Given the description of an element on the screen output the (x, y) to click on. 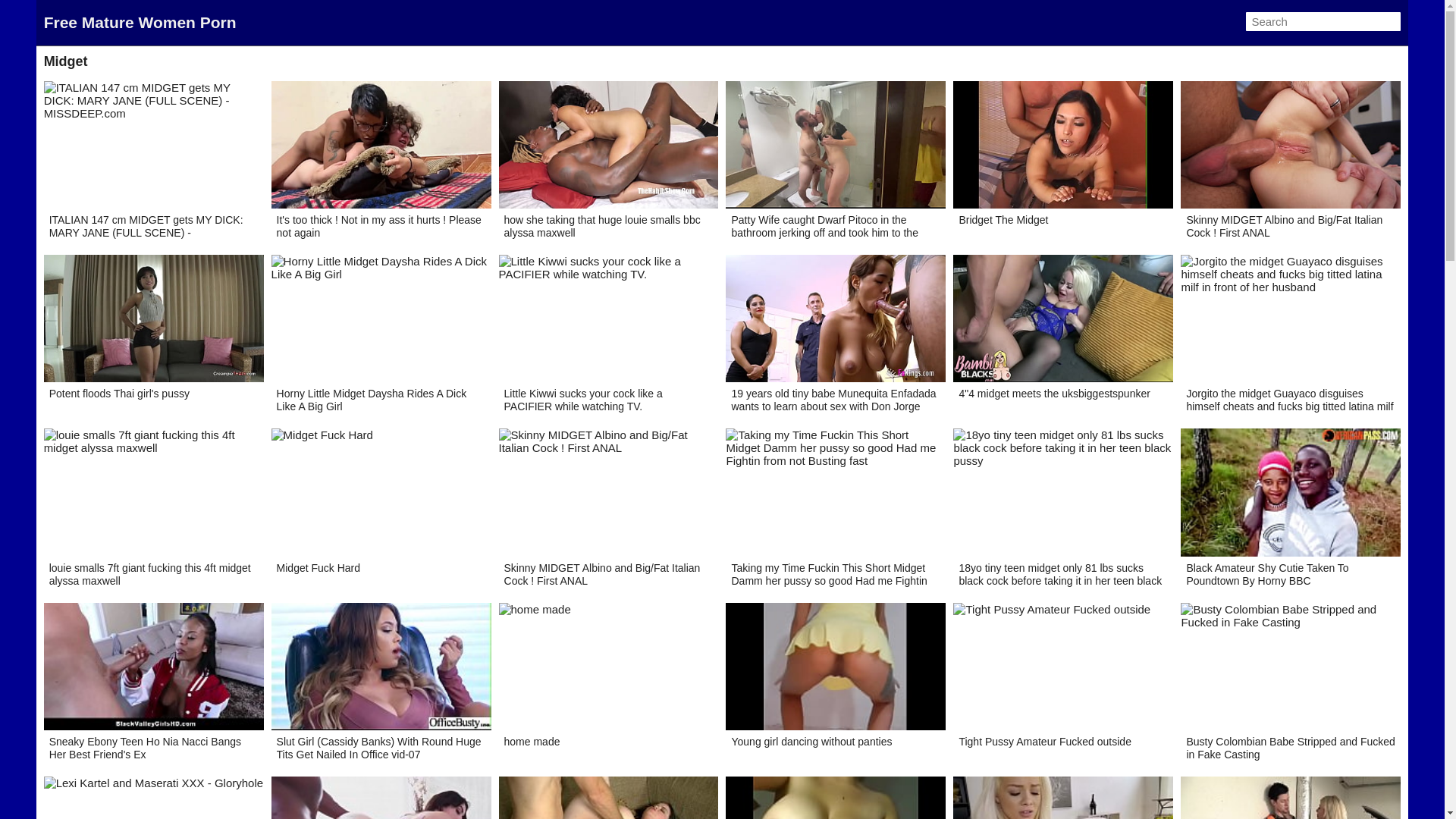
Free Mature Women Porn Element type: text (139, 22)
